Given the description of an element on the screen output the (x, y) to click on. 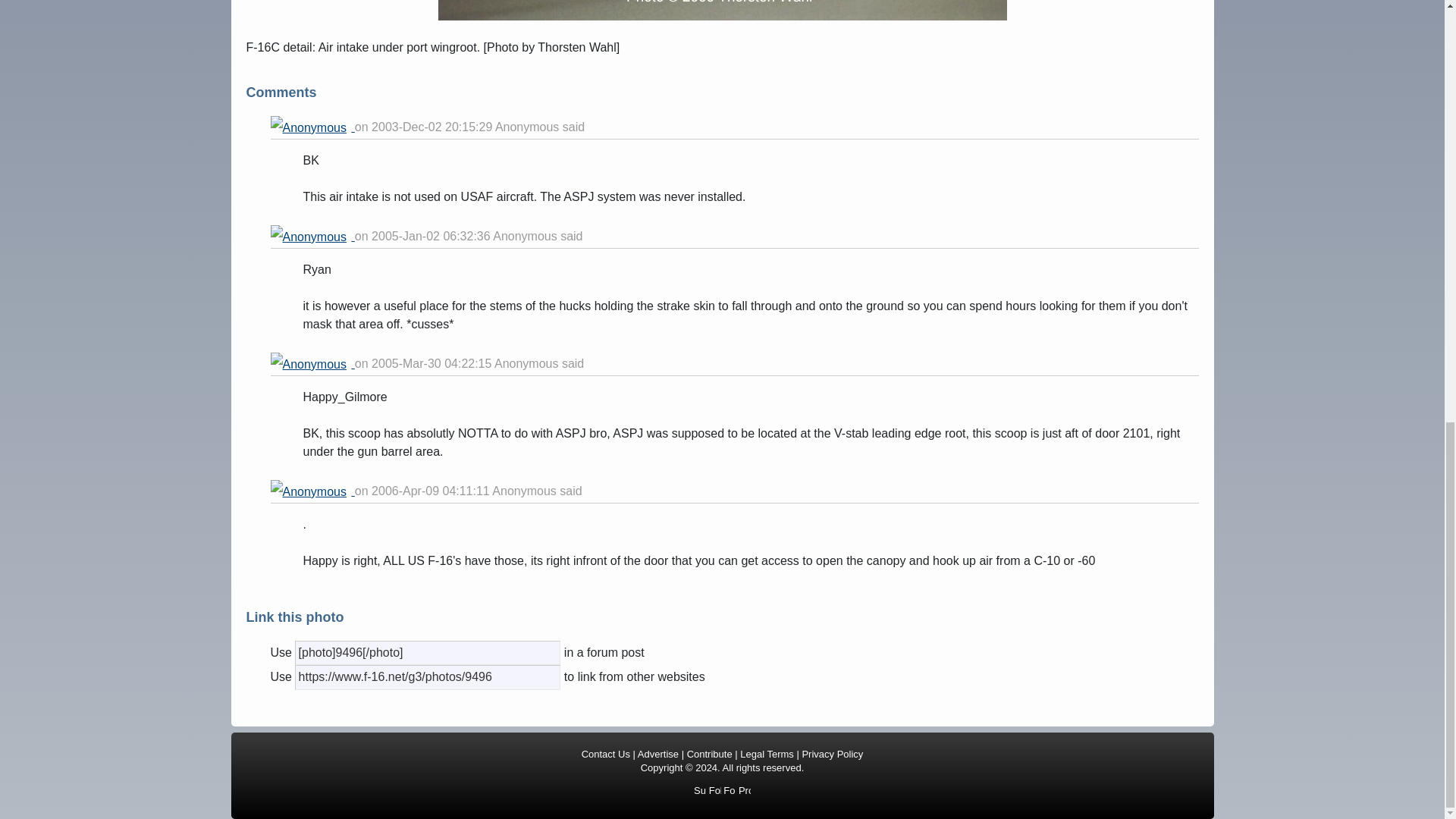
Follow us on Facebook (714, 789)
Pro's, join us on LinkedIn (744, 789)
Subscribe via RSS (700, 789)
Follow us on Twitter (729, 789)
Advertise on F-16.net (657, 754)
We need your help! (709, 754)
